Given the description of an element on the screen output the (x, y) to click on. 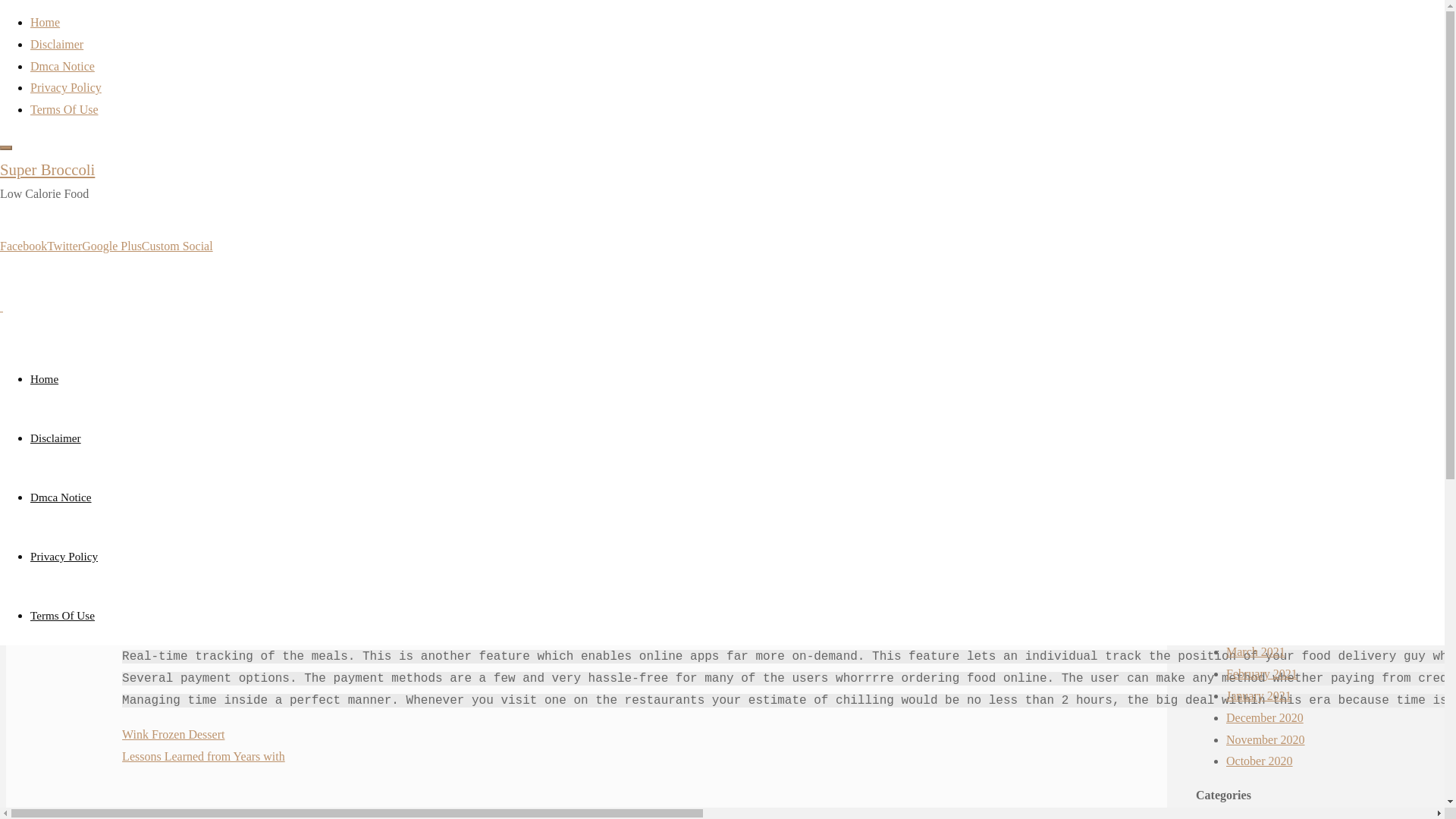
Home (44, 21)
Business IT support Denver CO (1303, 365)
Home (136, 120)
Facebook (23, 245)
View all posts by superbroccoli (173, 355)
Privacy Policy (63, 555)
Custom Social (176, 245)
Healthy Eating (1304, 408)
Wink Frozen Dessert (173, 734)
Home (136, 120)
Super Broccoli (47, 169)
Uncategorized (189, 120)
Saving Bedroom Furniture (1290, 210)
Disclaimer (56, 43)
best of 2017 - TR (1268, 431)
